Given the description of an element on the screen output the (x, y) to click on. 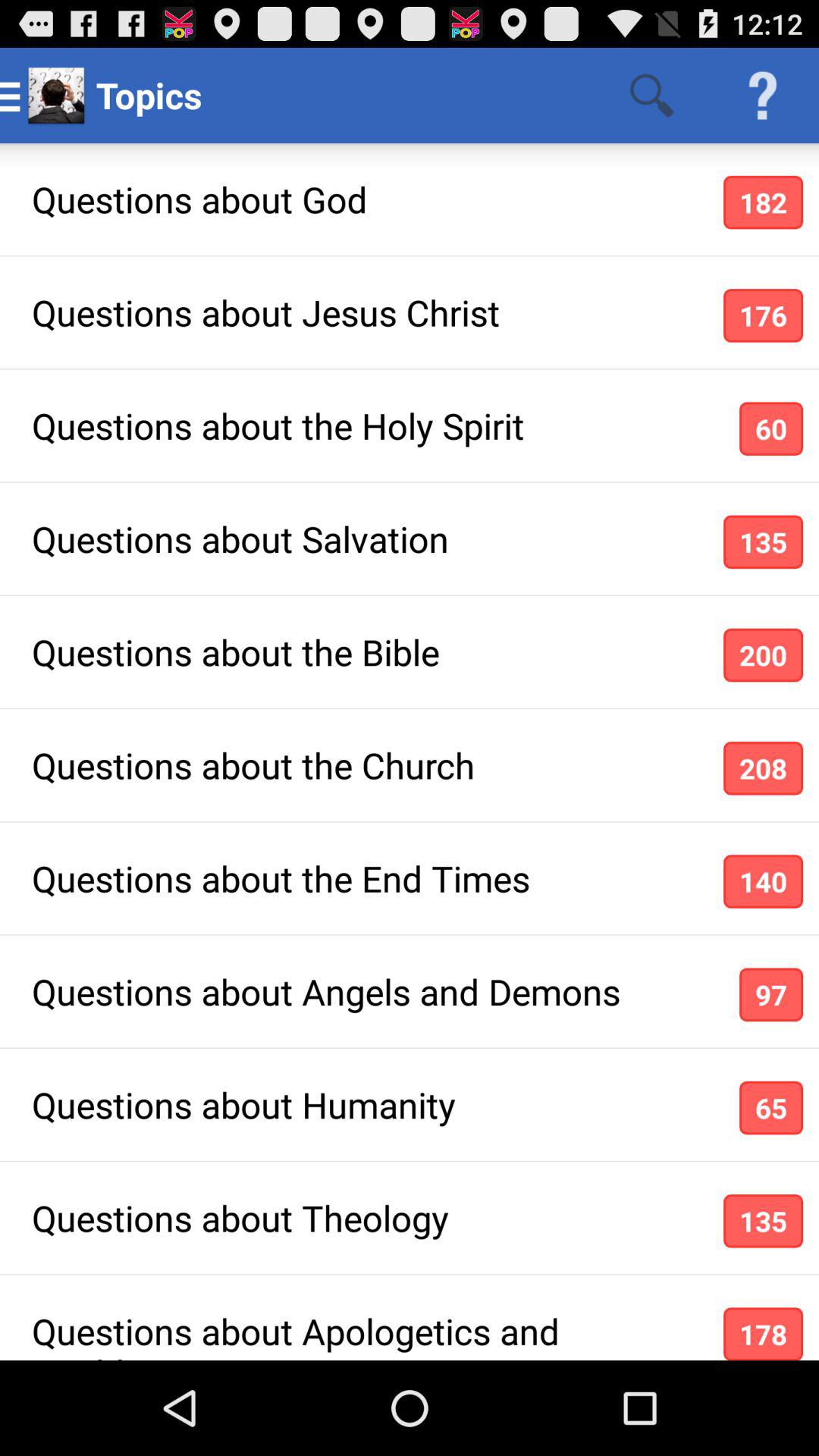
select the item below questions about the item (763, 881)
